Given the description of an element on the screen output the (x, y) to click on. 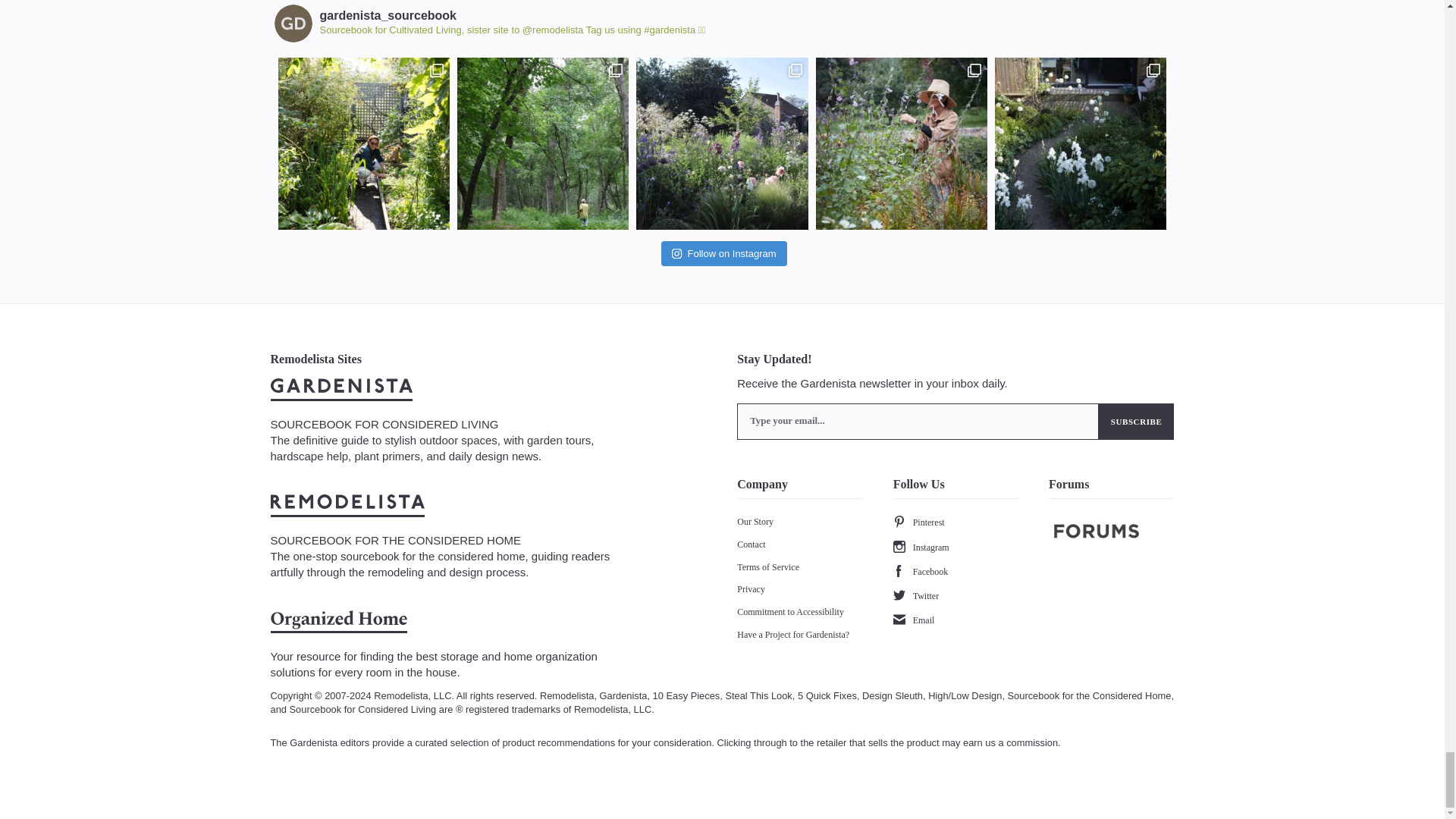
Subscribe (1136, 421)
